Given the description of an element on the screen output the (x, y) to click on. 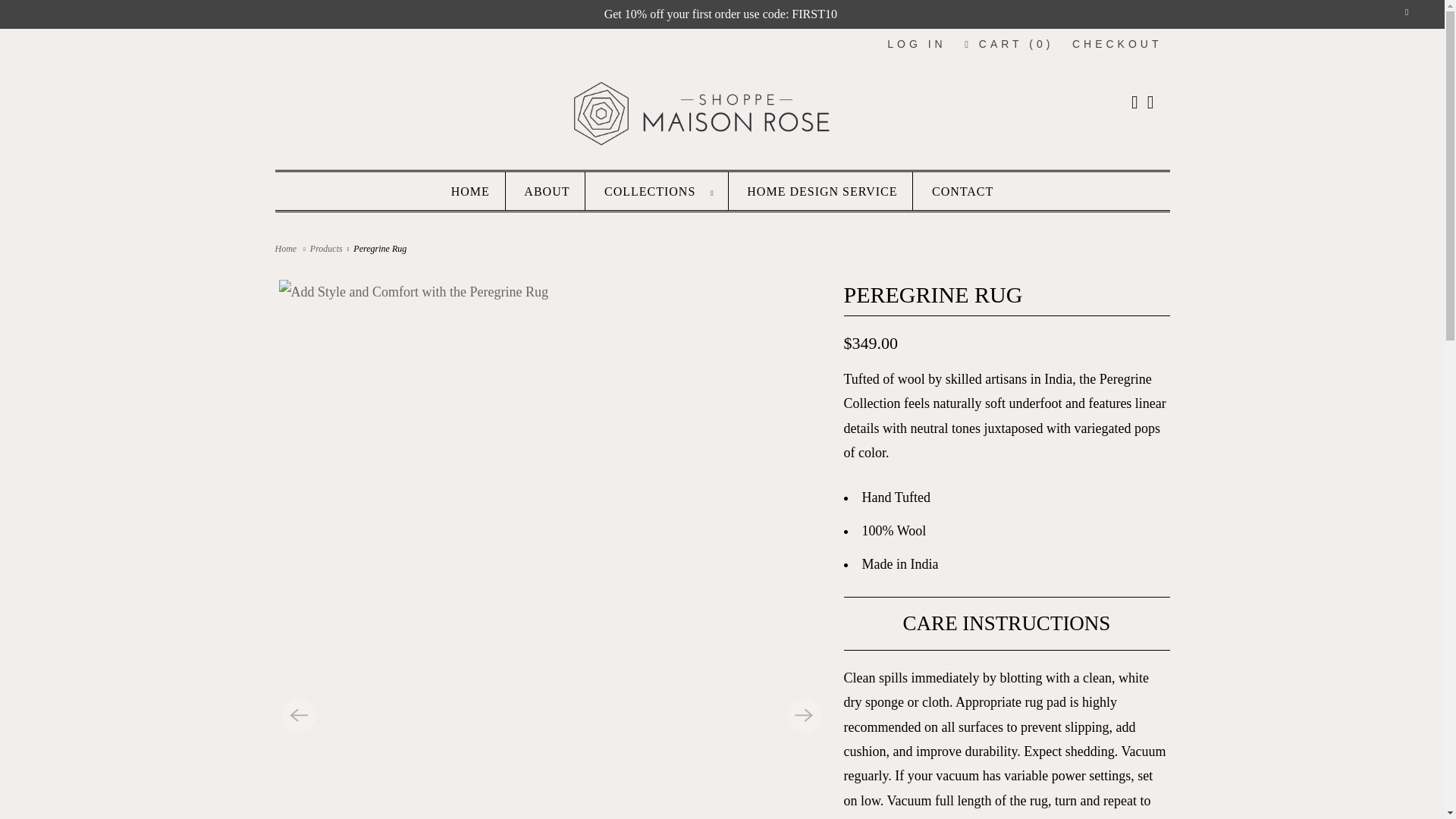
CONTACT (961, 191)
HOME DESIGN SERVICE (821, 191)
ABOUT (546, 191)
Products (327, 248)
COLLECTIONS  (658, 191)
Shoppe Maison Rose (288, 248)
HOME (470, 191)
LOG IN (915, 43)
Home (288, 248)
Shoppe Maison Rose (722, 115)
CHECKOUT (1116, 43)
Products (327, 248)
